Given the description of an element on the screen output the (x, y) to click on. 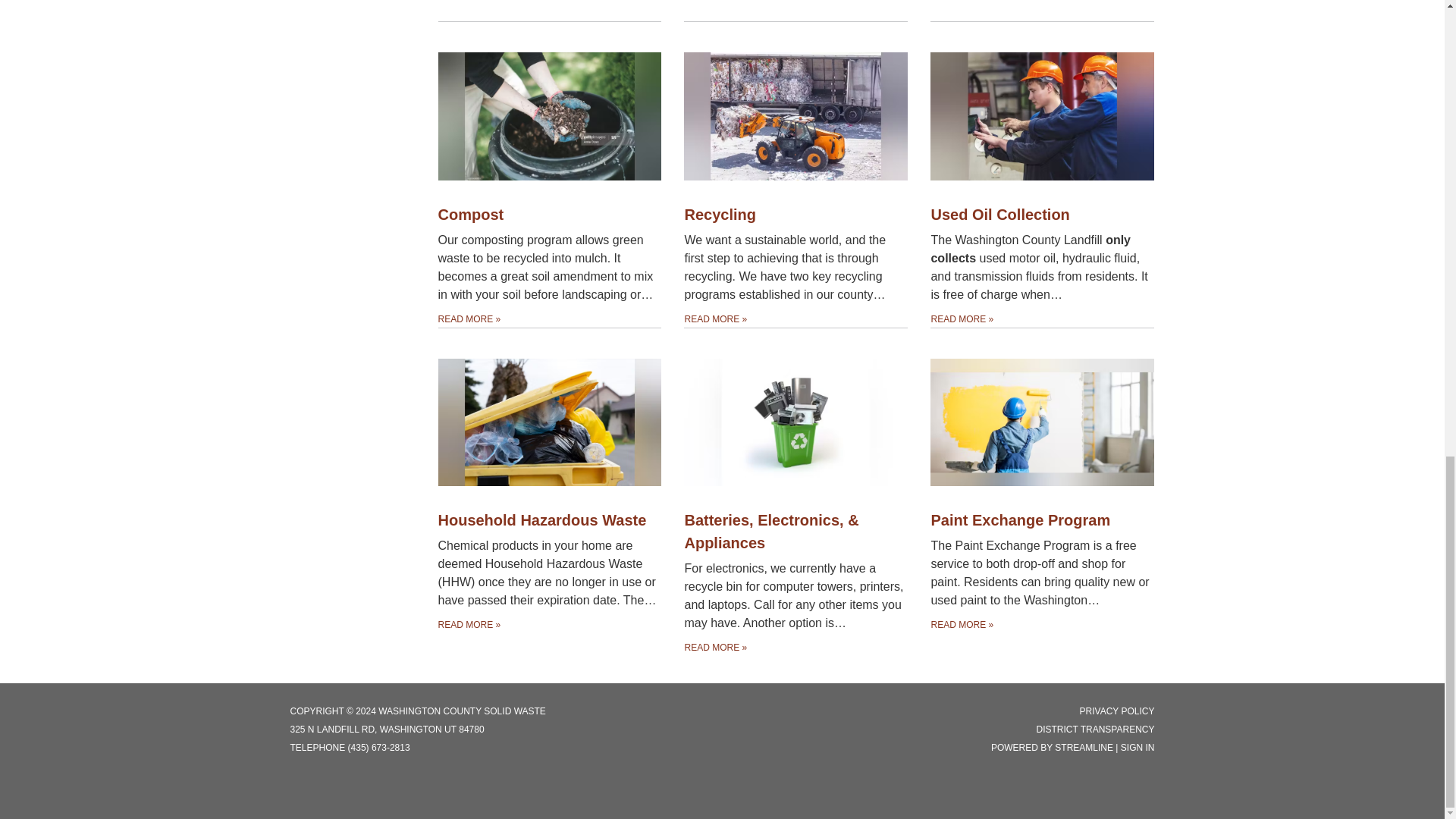
Special District Transparency Report (1094, 728)
Streamline: Technology for Special Districts (1083, 747)
